Given the description of an element on the screen output the (x, y) to click on. 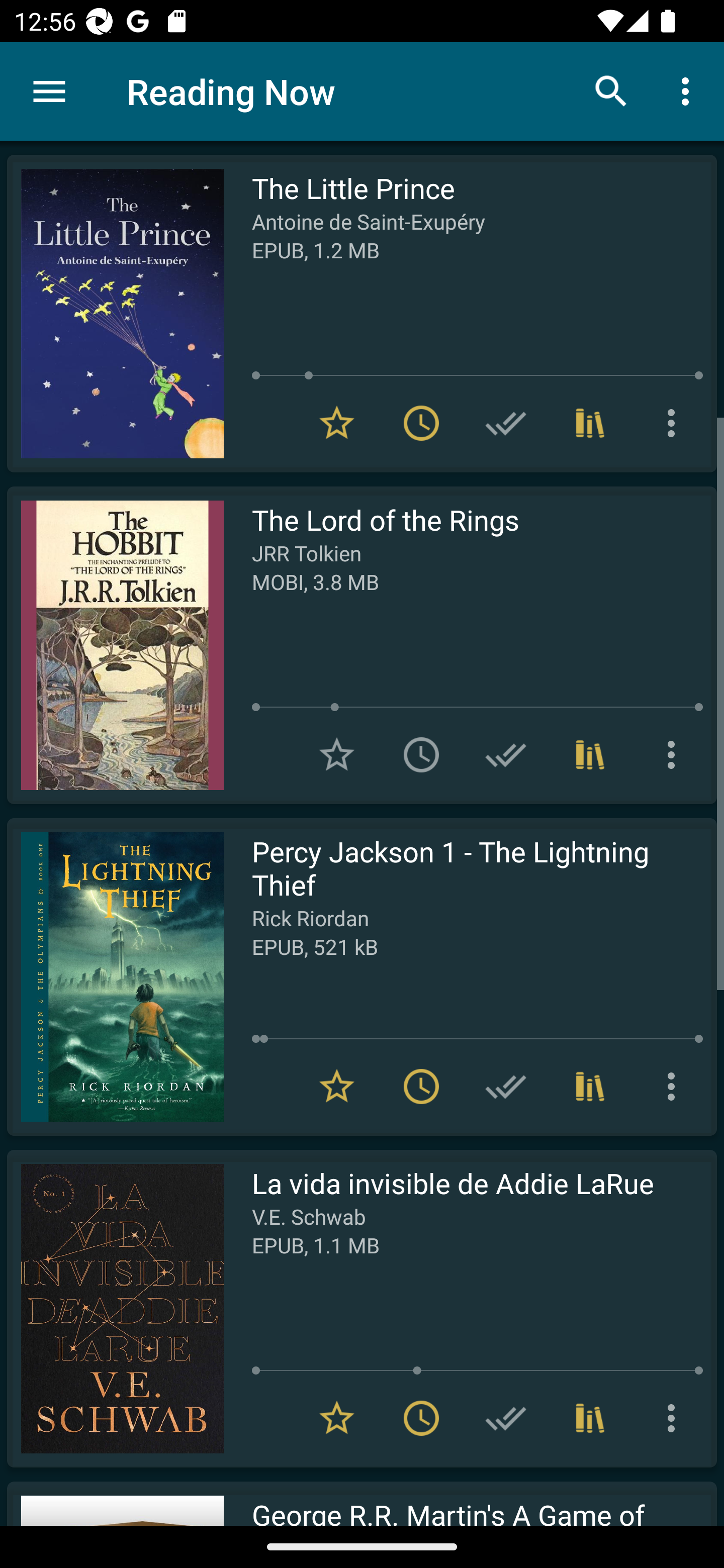
Menu (49, 91)
Search books & documents (611, 90)
More options (688, 90)
Read The Little Prince (115, 313)
Remove from Favorites (336, 423)
Remove from To read (421, 423)
Add to Have read (505, 423)
Collections (1) (590, 423)
More options (674, 423)
Read The Lord of the Rings (115, 645)
Add to Favorites (336, 753)
Add to To read (421, 753)
Add to Have read (505, 753)
Collections (1) (590, 753)
More options (674, 753)
Read Percy Jackson 1 - The Lightning Thief (115, 976)
Remove from Favorites (336, 1086)
Remove from To read (421, 1086)
Add to Have read (505, 1086)
Collections (1) (590, 1086)
More options (674, 1086)
Read La vida invisible de Addie LaRue (115, 1308)
Remove from Favorites (336, 1417)
Remove from To read (421, 1417)
Add to Have read (505, 1417)
Collections (1) (590, 1417)
More options (674, 1417)
